Given the description of an element on the screen output the (x, y) to click on. 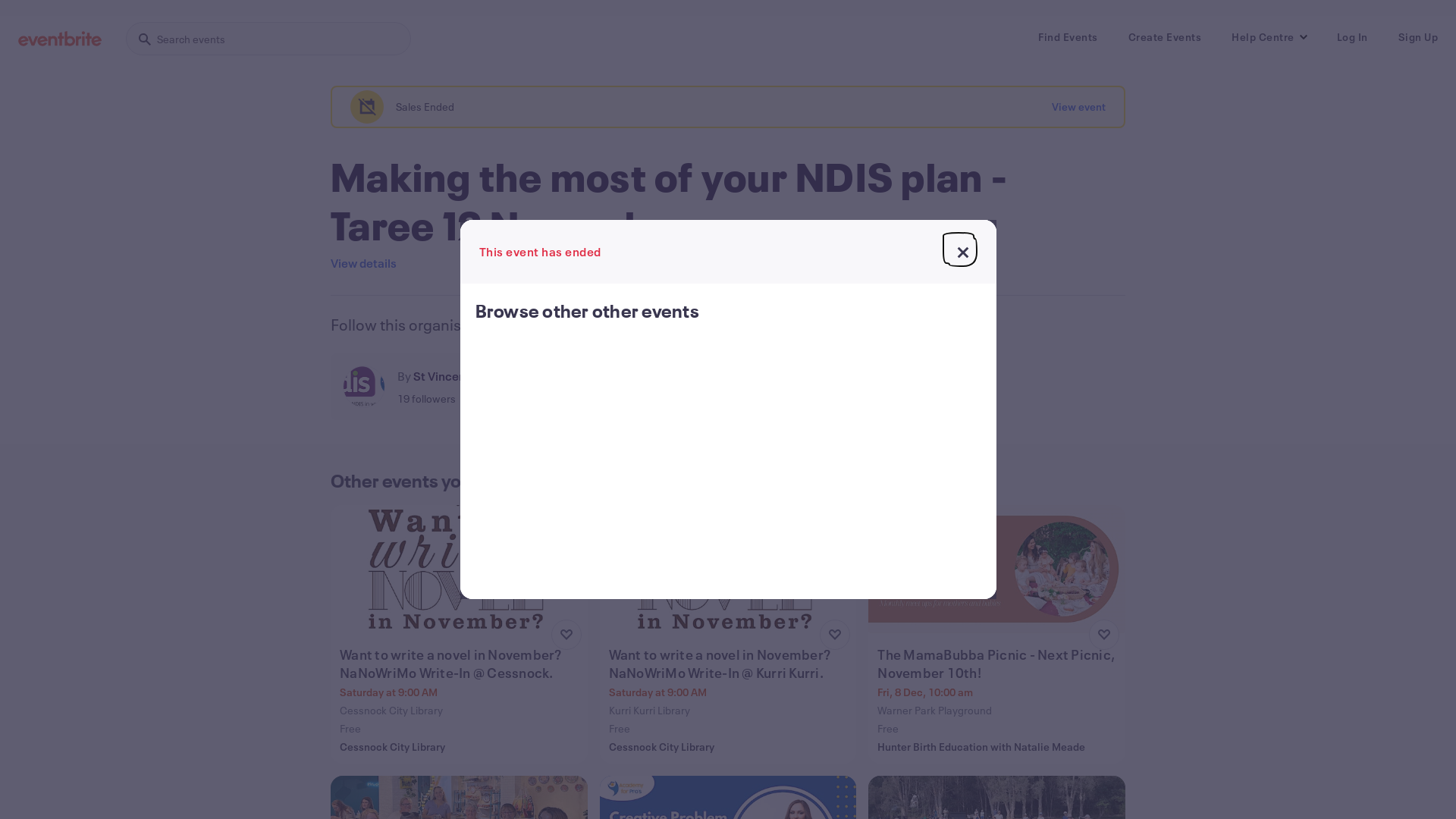
View details Element type: text (363, 262)
Sign Up Element type: text (1418, 36)
Log In Element type: text (1351, 36)
The MamaBubba Picnic - Next Picnic, November 10th! Element type: text (998, 663)
Follow Element type: text (637, 386)
Create Events Element type: text (1165, 36)
Eventbrite Element type: hover (59, 38)
Find Events Element type: text (1068, 36)
View event Element type: text (1078, 106)
Search events Element type: text (268, 38)
